Given the description of an element on the screen output the (x, y) to click on. 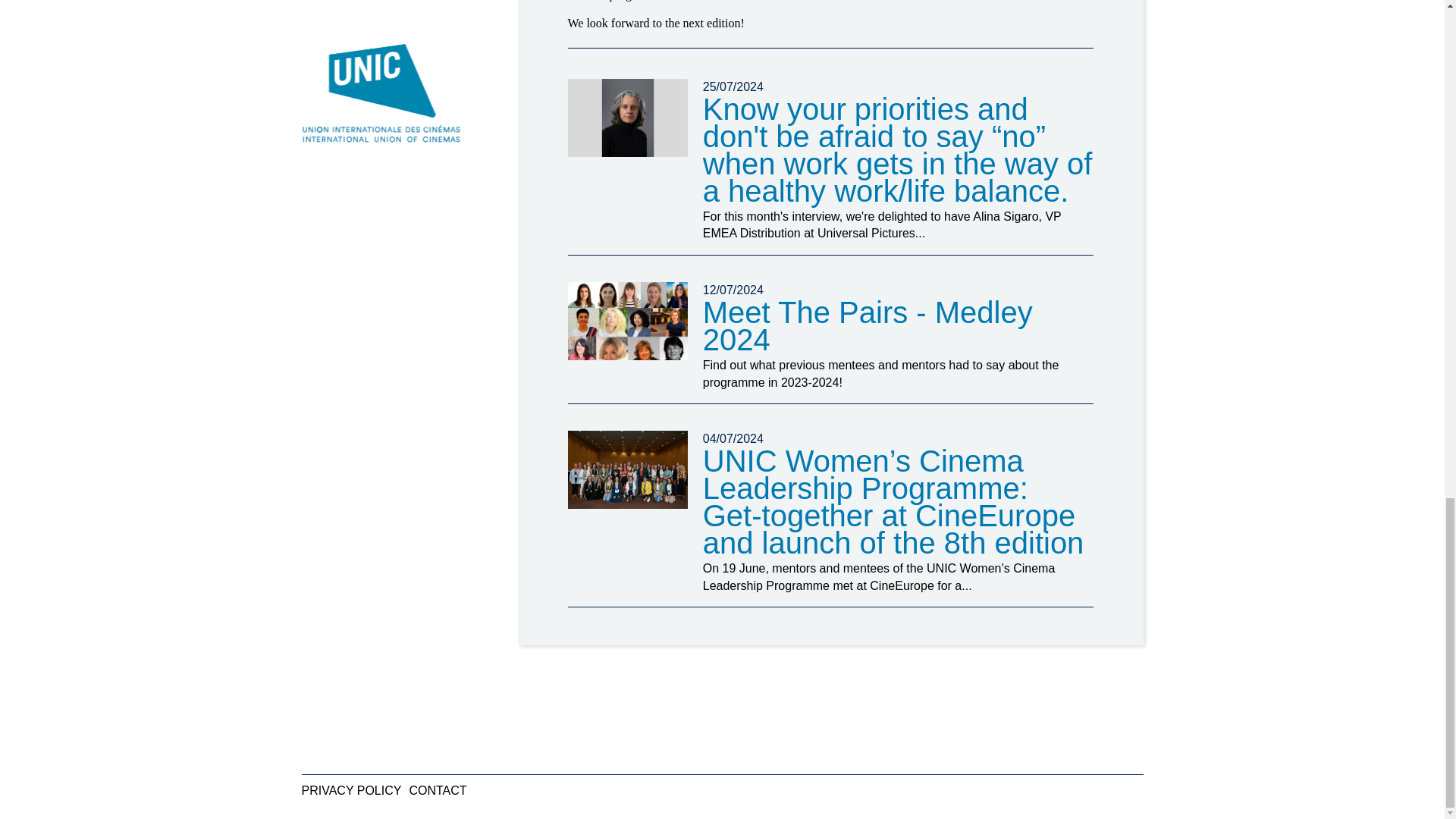
Meet The Pairs - Medley 2024 (867, 325)
Meet The Pairs - Medley 2024 (627, 320)
Meet The Pairs - Medley 2024 (867, 325)
